Given the description of an element on the screen output the (x, y) to click on. 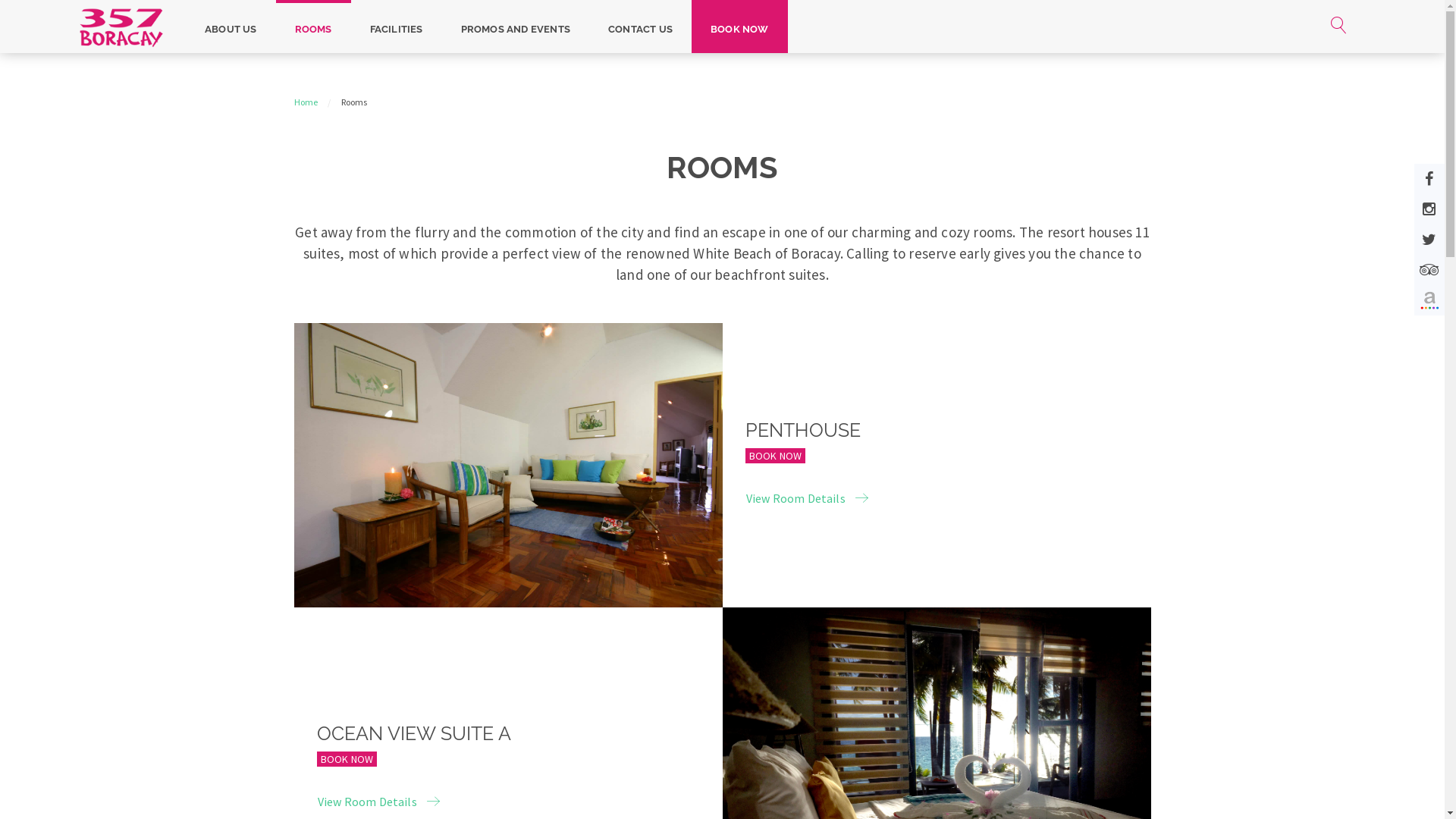
ABOUT US Element type: text (230, 26)
OCEAN VIEW SUITE A Element type: text (413, 732)
BOOK NOW Element type: text (739, 26)
View Room Details Element type: text (806, 498)
View Room Details Element type: text (378, 801)
PROMOS AND EVENTS Element type: text (515, 26)
CONTACT US Element type: text (640, 26)
FACILITIES Element type: text (396, 26)
Home Element type: text (306, 102)
BOOK NOW Element type: text (774, 455)
ROOMS Element type: text (313, 26)
BOOK NOW Element type: text (346, 758)
PENTHOUSE Element type: text (802, 429)
